Given the description of an element on the screen output the (x, y) to click on. 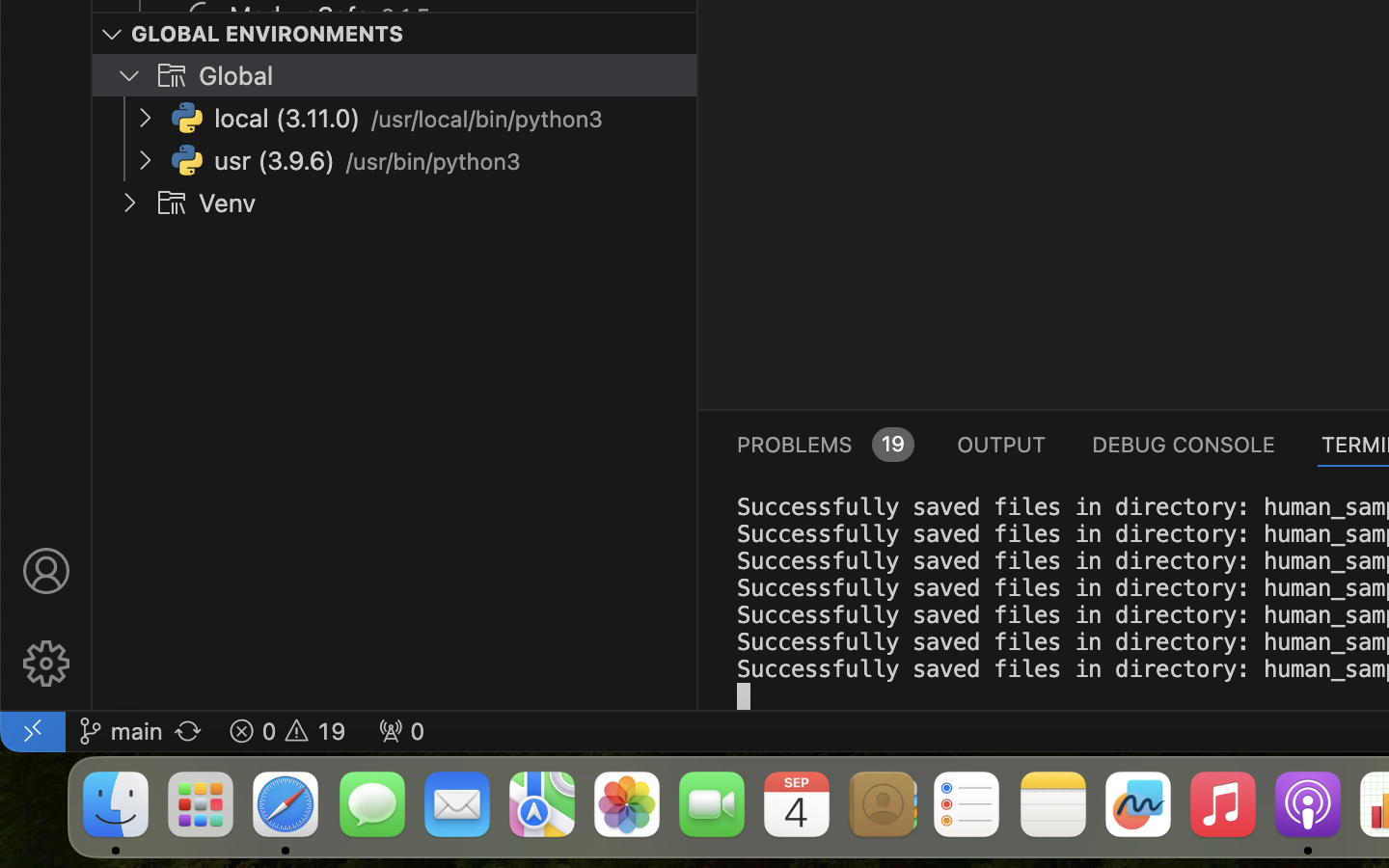
GLOBAL ENVIRONMENTS Element type: AXStaticText (268, 33)
19  0  Element type: AXButton (286, 730)
